Given the description of an element on the screen output the (x, y) to click on. 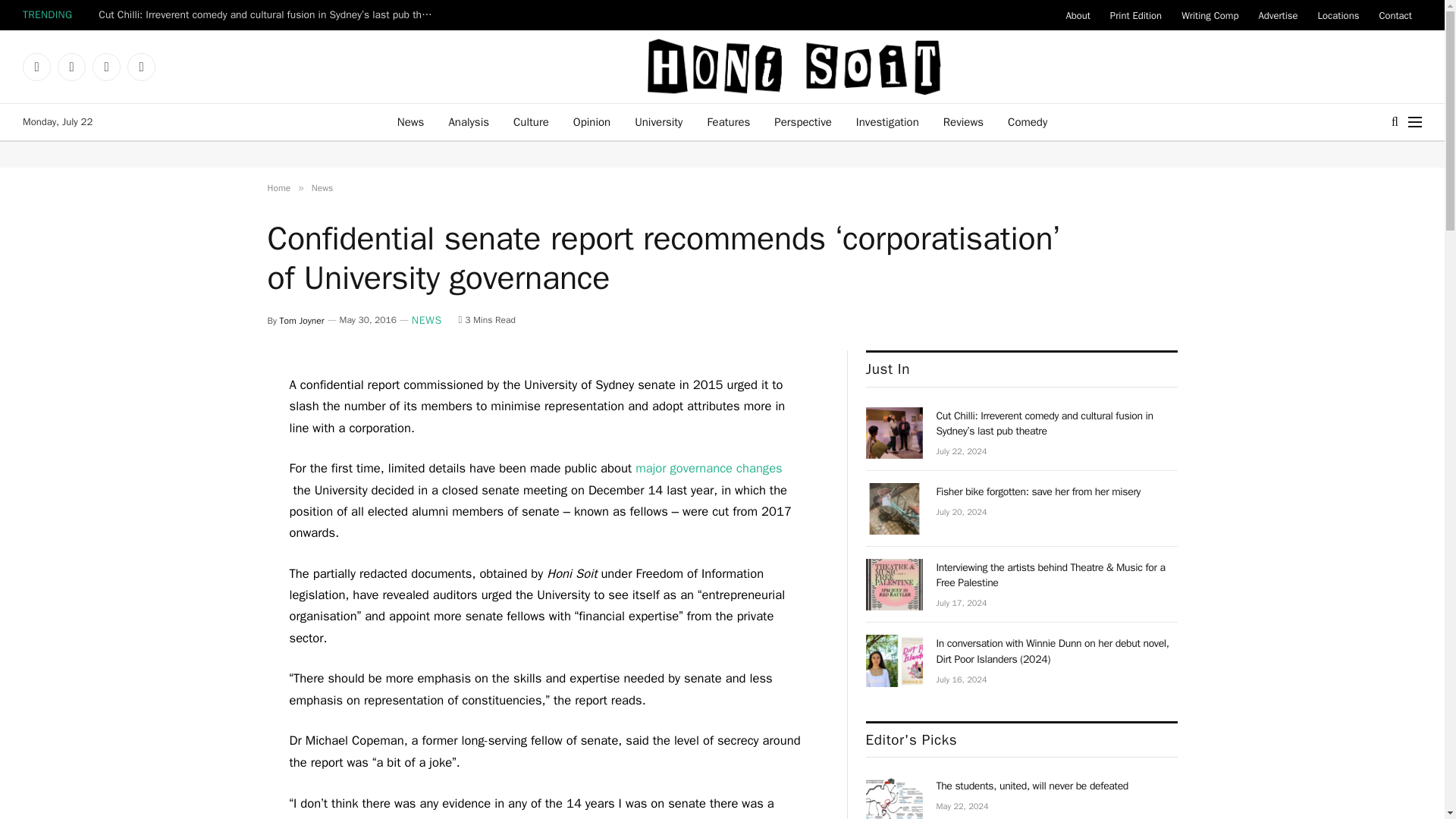
Reviews (963, 122)
Features (727, 122)
Posts by Tom Joyner (301, 319)
Print Edition (1136, 15)
News (410, 122)
University (658, 122)
Fisher bike forgotten: save her from her misery (894, 508)
Opinion (591, 122)
News (322, 187)
Analysis (467, 122)
Instagram (71, 67)
Contact (1395, 15)
Comedy (1027, 122)
Perspective (802, 122)
Writing Comp (1209, 15)
